Given the description of an element on the screen output the (x, y) to click on. 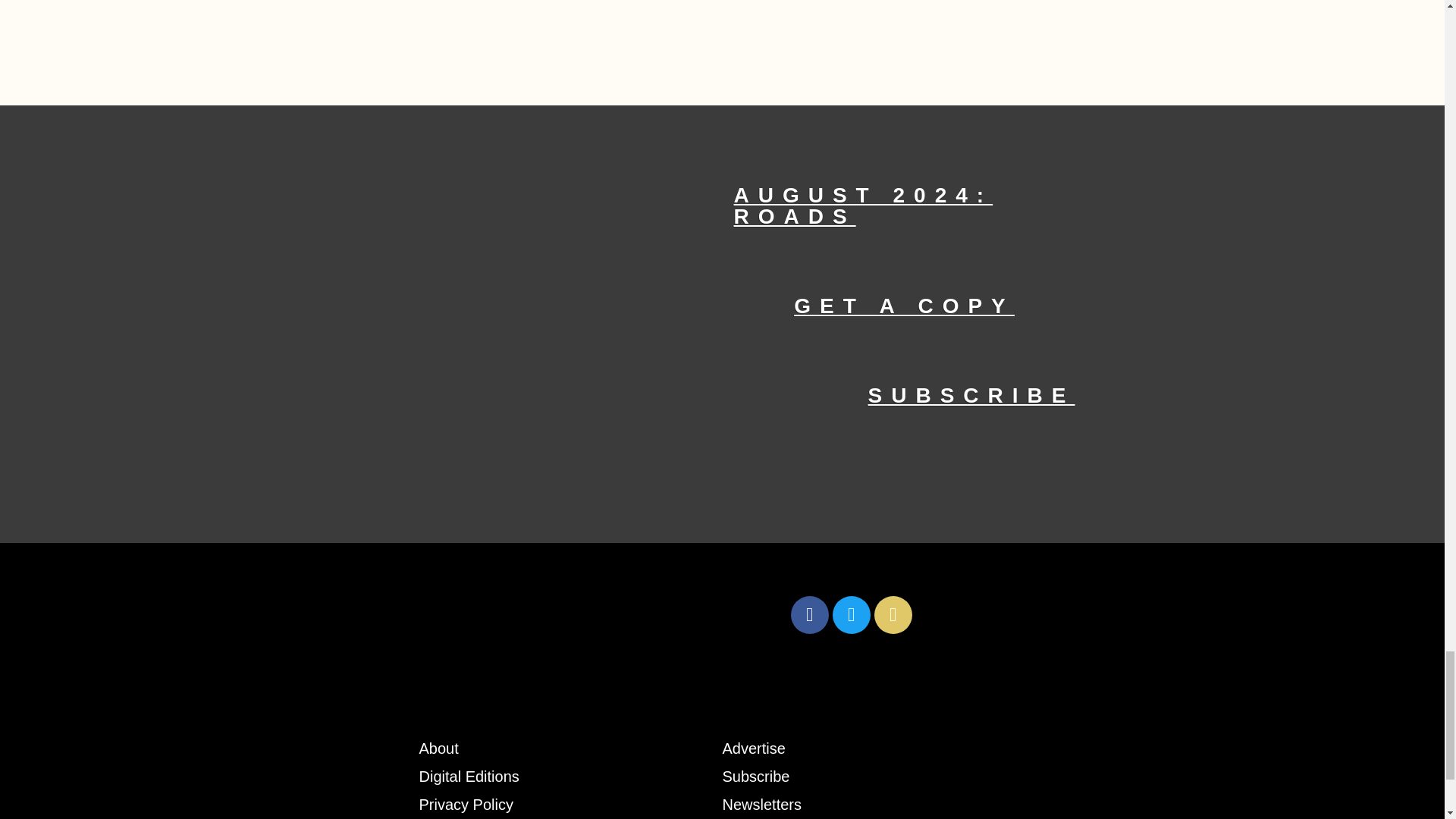
NewcityLogo.png (600, 614)
